Given the description of an element on the screen output the (x, y) to click on. 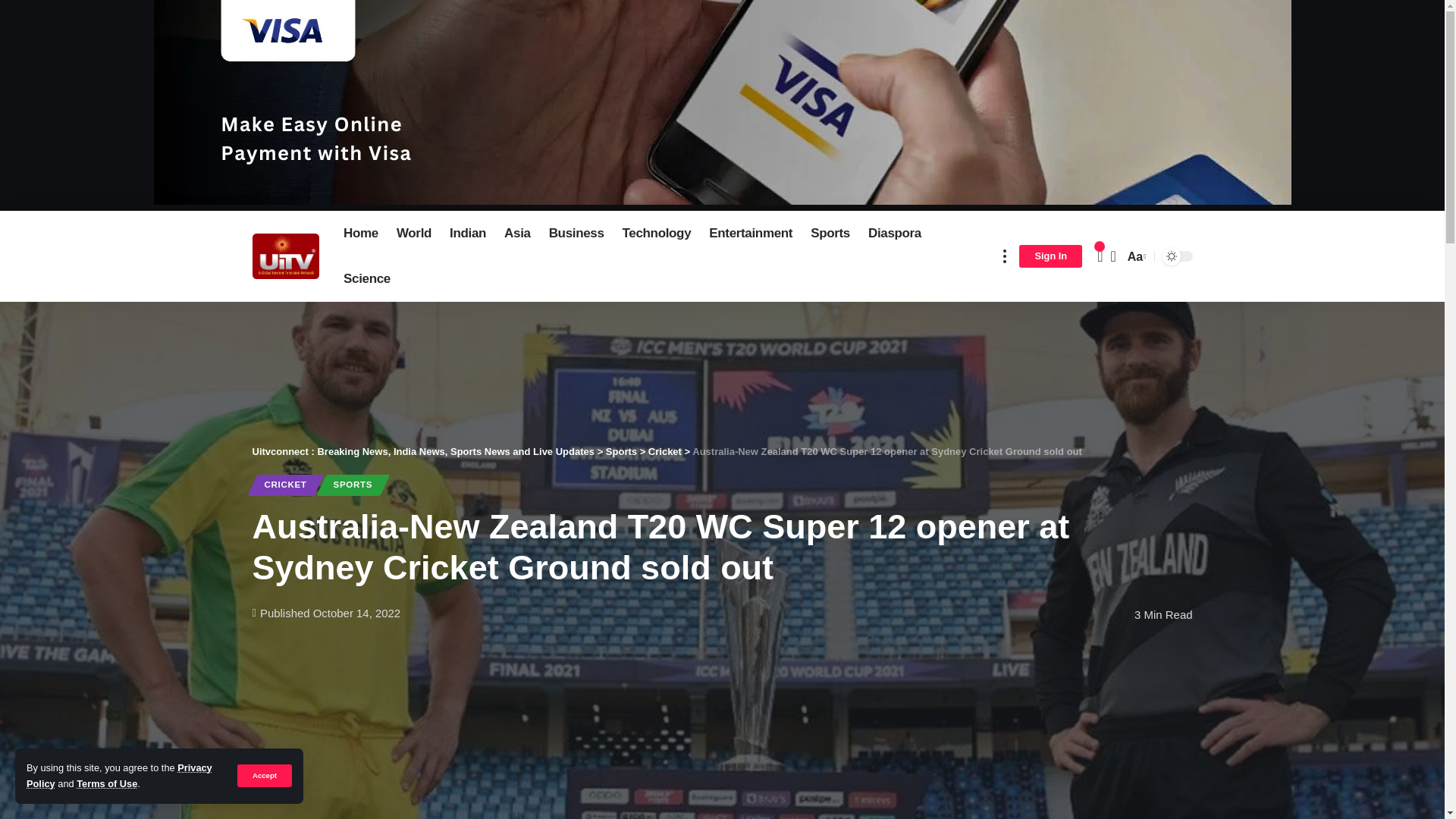
Home (360, 233)
Indian (468, 233)
Terms of Use (106, 783)
Entertainment (751, 233)
Science (366, 279)
Go to the Cricket Category archives. (664, 451)
Business (576, 233)
Go to the Sports Category archives. (621, 451)
Sports (830, 233)
Asia (517, 233)
Diaspora (894, 233)
Privacy Policy (119, 775)
World (414, 233)
